Given the description of an element on the screen output the (x, y) to click on. 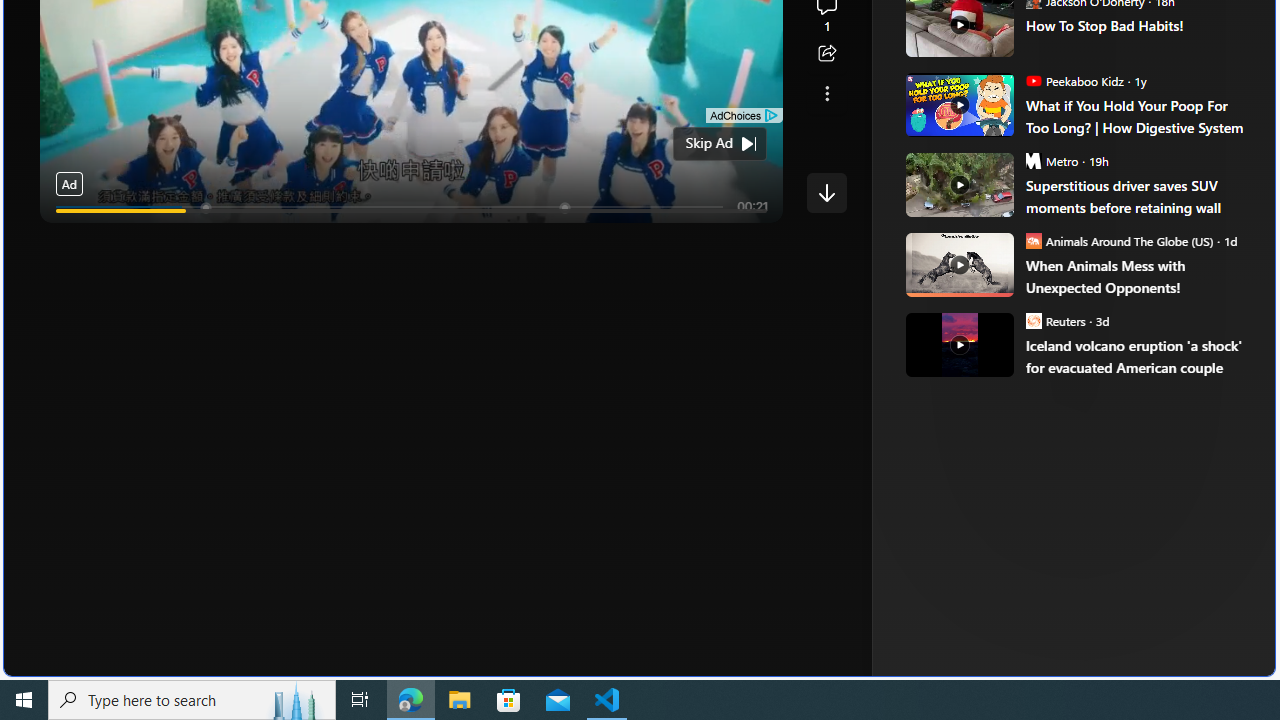
Pause (68, 233)
ABC News (974, 12)
Share this story (826, 53)
